Given the description of an element on the screen output the (x, y) to click on. 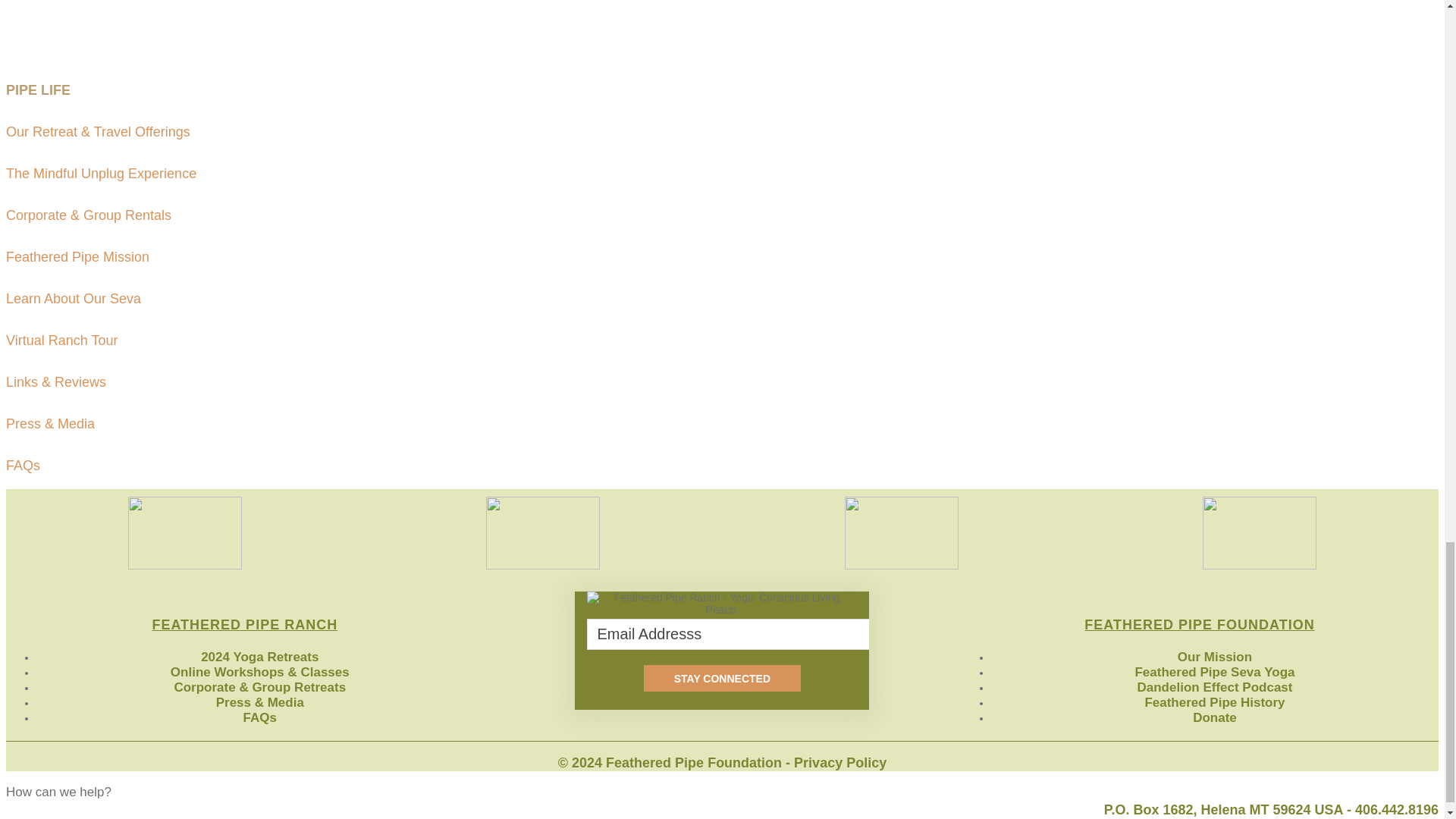
Email Addresss (731, 634)
STAY CONNECTED (721, 678)
